Given the description of an element on the screen output the (x, y) to click on. 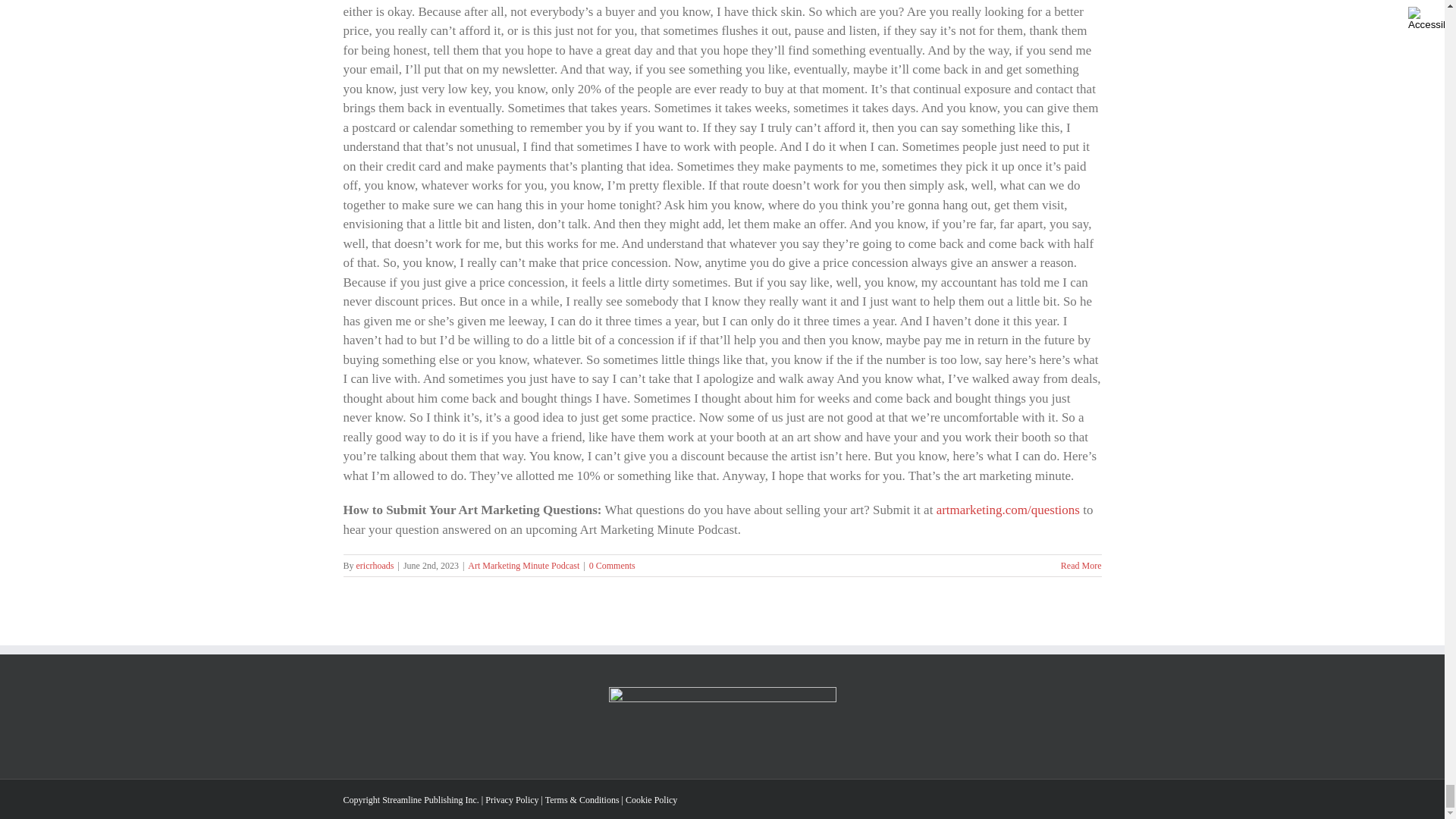
Posts by ericrhoads (375, 565)
